Given the description of an element on the screen output the (x, y) to click on. 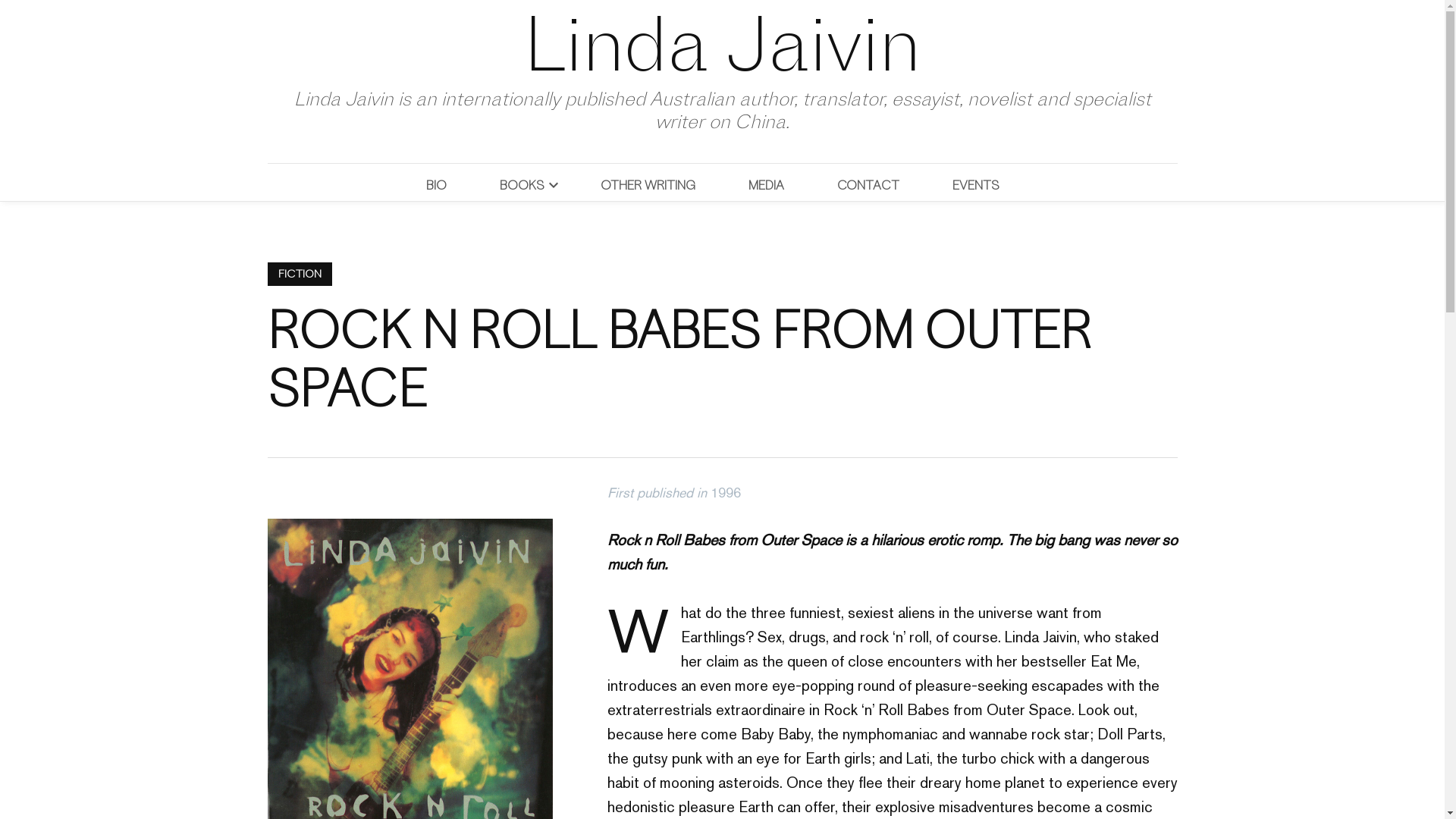
EVENTS Element type: text (975, 184)
BOOKS Element type: text (514, 184)
MEDIA Element type: text (766, 184)
OTHER WRITING Element type: text (647, 184)
FICTION Element type: text (298, 273)
CONTACT Element type: text (868, 184)
BIO Element type: text (443, 184)
